Given the description of an element on the screen output the (x, y) to click on. 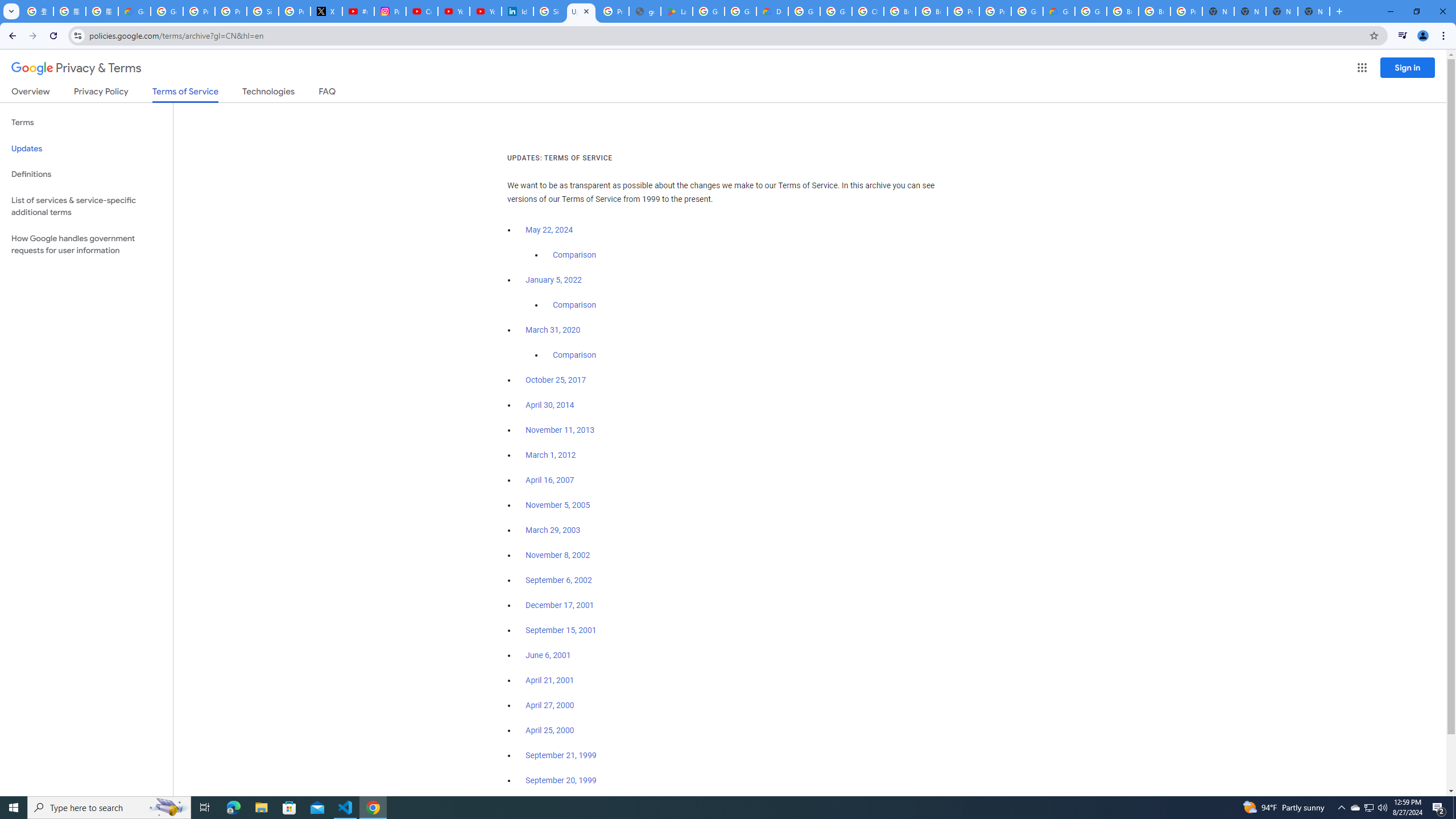
#nbabasketballhighlights - YouTube (358, 11)
May 22, 2024 (549, 230)
November 11, 2013 (560, 430)
Sign in - Google Accounts (262, 11)
Google Cloud Platform (804, 11)
June 6, 2001 (547, 655)
